Given the description of an element on the screen output the (x, y) to click on. 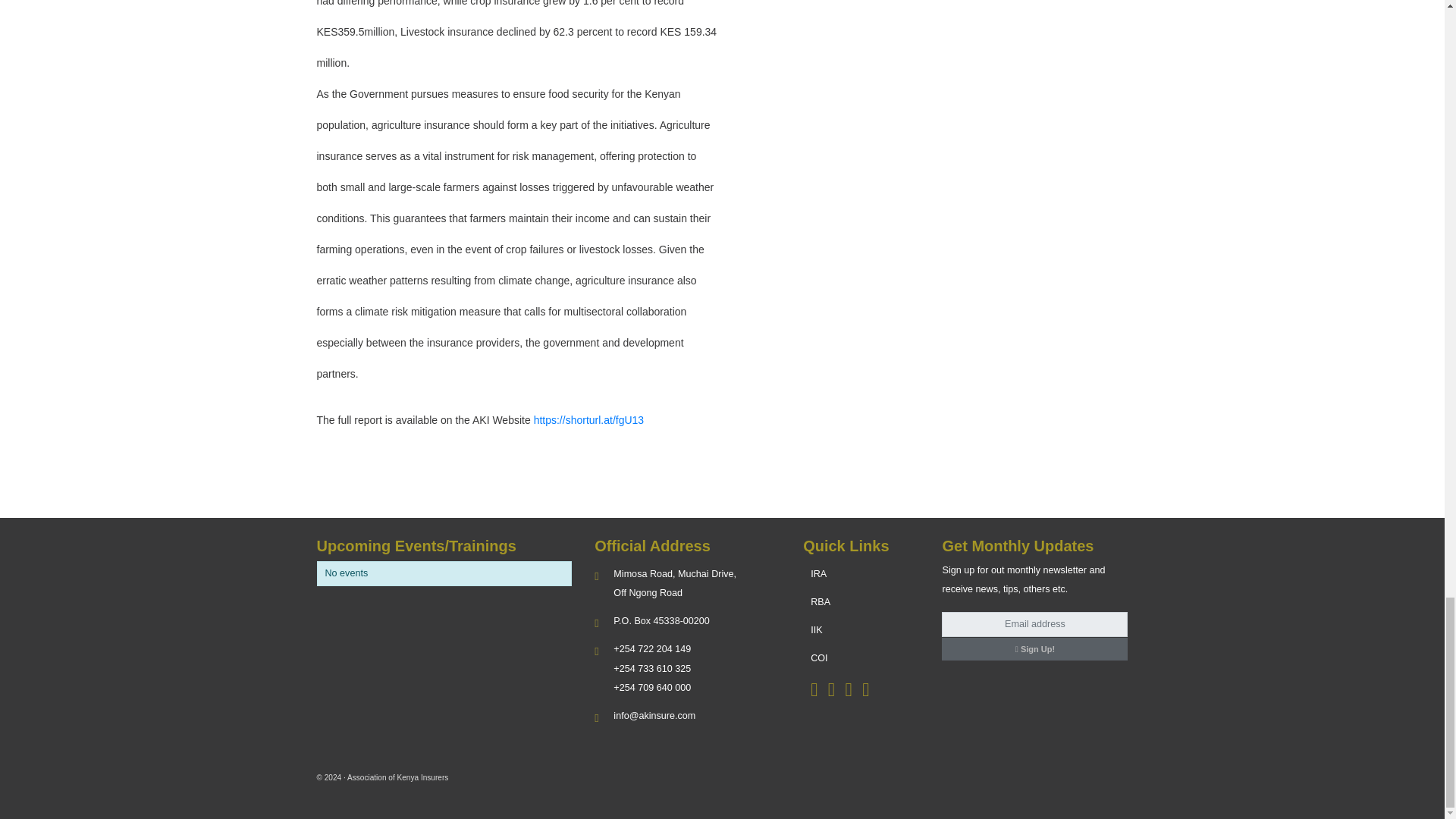
RBA (819, 602)
COI (818, 657)
IRA (818, 573)
IIK (816, 629)
Sign Up! (1034, 648)
